Given the description of an element on the screen output the (x, y) to click on. 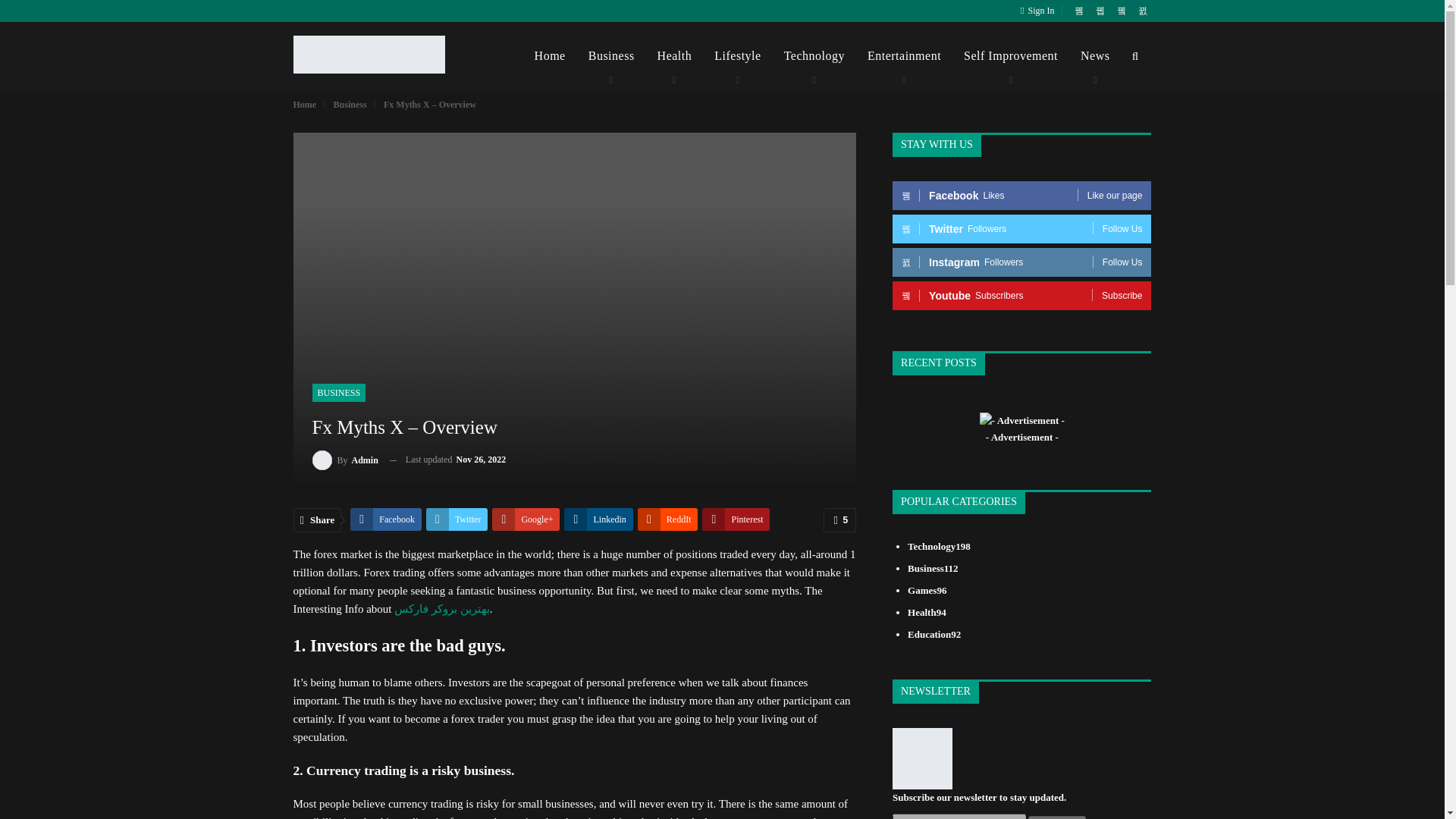
Lifestyle (737, 56)
Sign In (1039, 10)
Health (674, 56)
Self Improvement (1010, 56)
Technology (814, 56)
Entertainment (904, 56)
Home (549, 56)
Business (611, 56)
Browse Author Articles (345, 459)
